Given the description of an element on the screen output the (x, y) to click on. 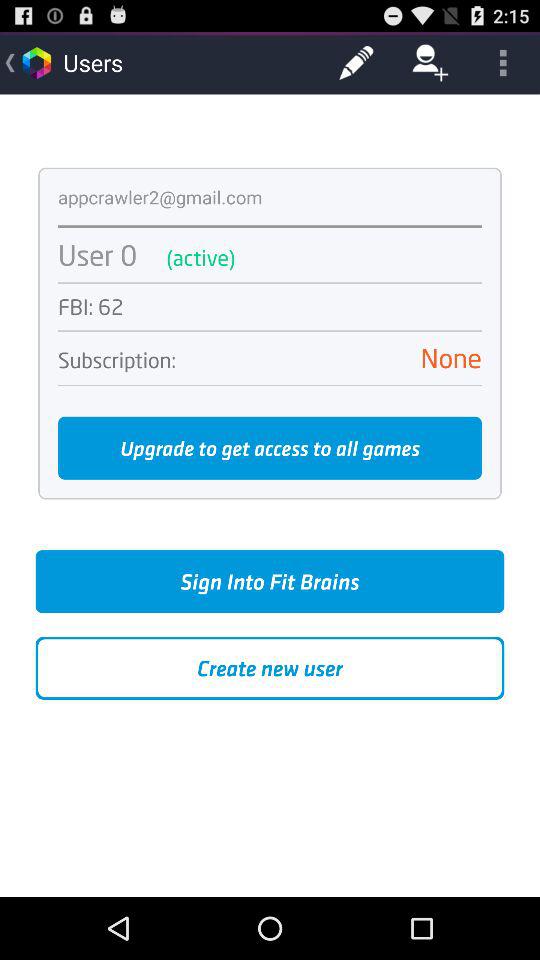
tap the icon below the upgrade to get icon (269, 581)
